Given the description of an element on the screen output the (x, y) to click on. 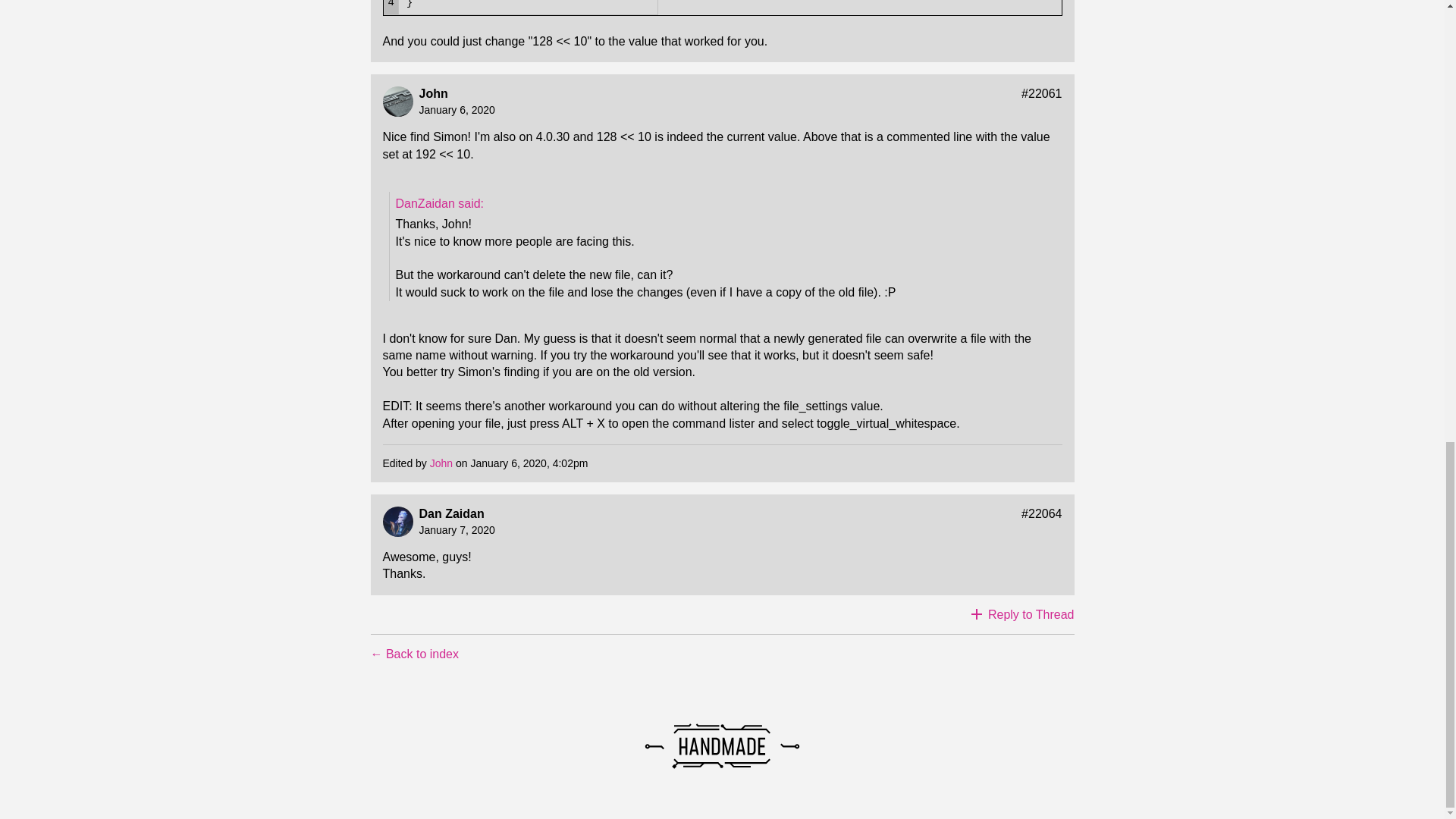
Reply to Thread (1022, 614)
Dan Zaidan (451, 513)
John (440, 463)
DanZaidan (440, 203)
John (432, 93)
